Given the description of an element on the screen output the (x, y) to click on. 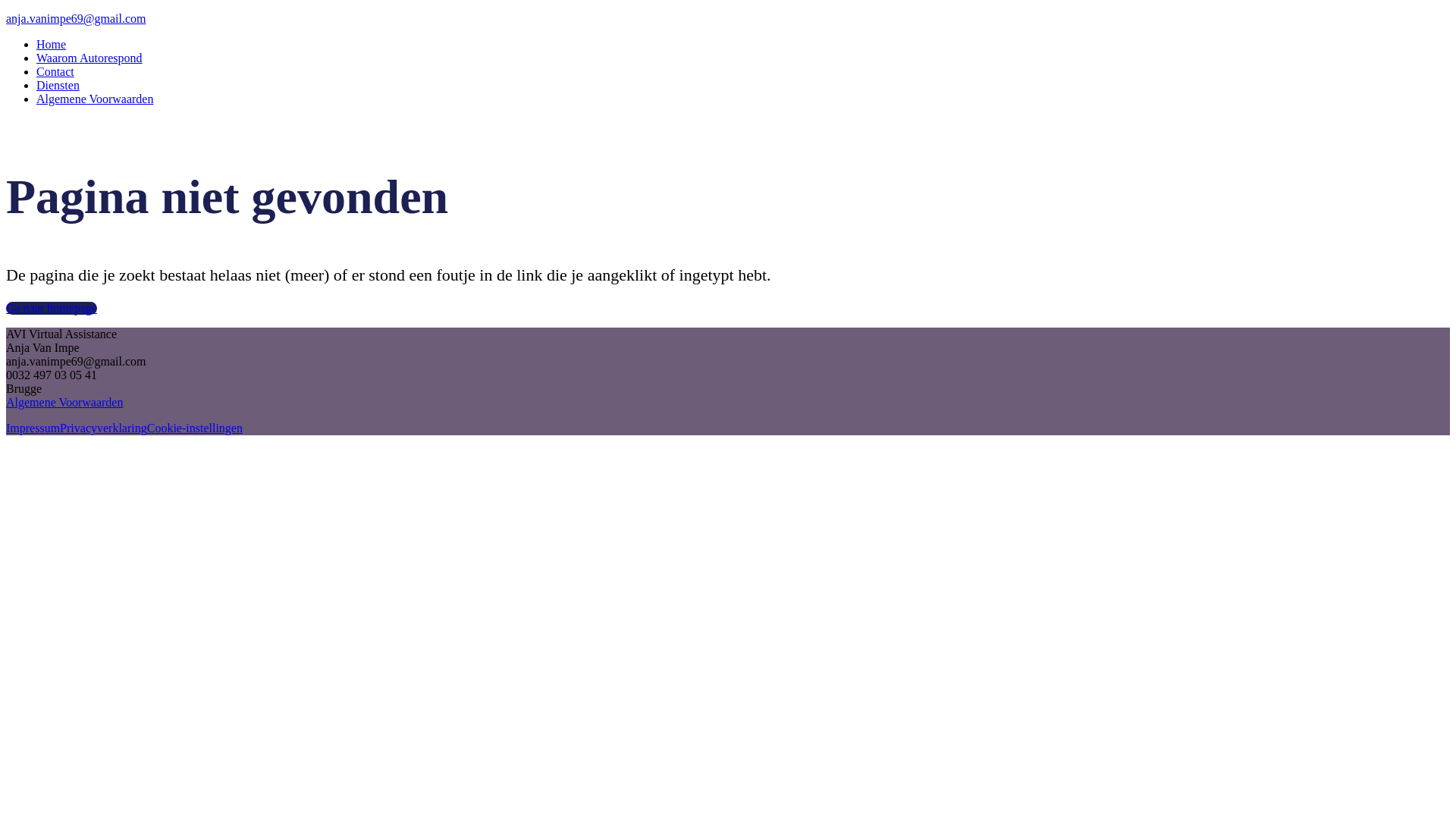
Diensten Element type: text (57, 84)
Home Element type: text (50, 43)
anja.vanimpe69@gmail.com Element type: text (727, 18)
Algemene Voorwaarden Element type: text (94, 98)
Ga naar homepage Element type: text (51, 307)
Impressum Element type: text (32, 427)
Contact Element type: text (55, 71)
Privacyverklaring Element type: text (103, 427)
Cookie-instellingen Element type: text (194, 427)
Waarom Autorespond Element type: text (89, 57)
Algemene Voorwaarden Element type: text (64, 401)
